Given the description of an element on the screen output the (x, y) to click on. 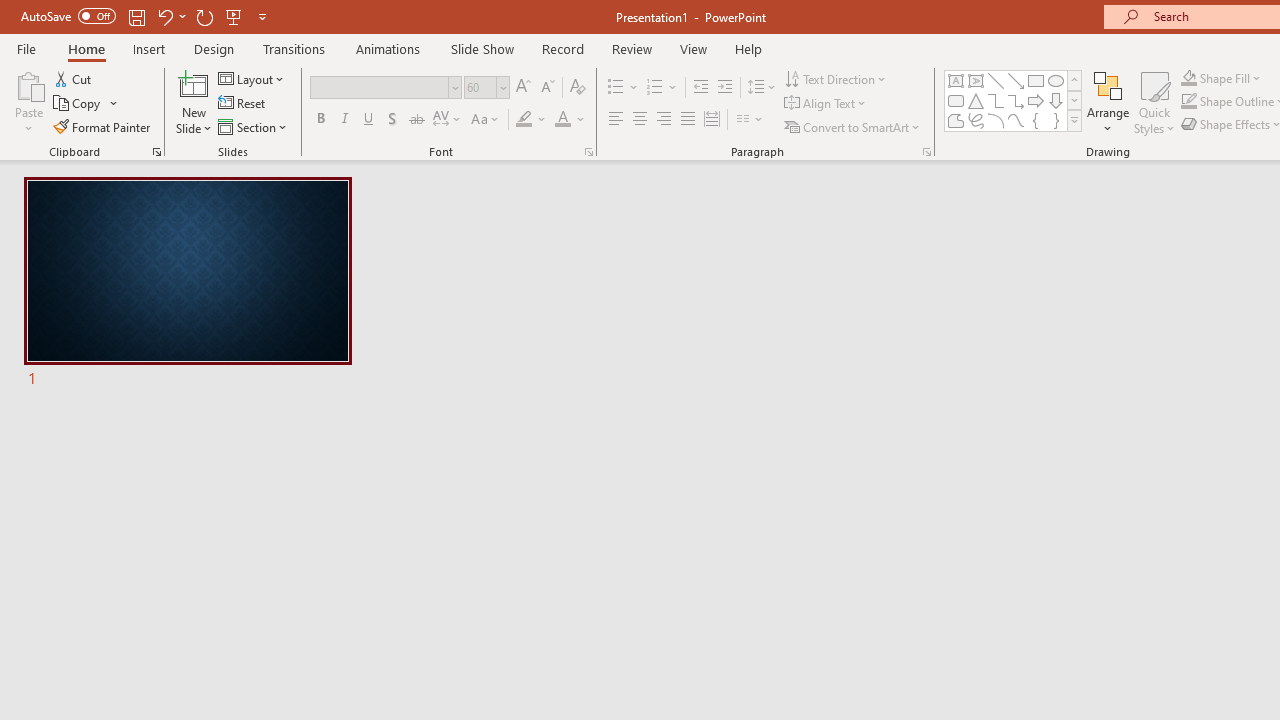
Align Text (826, 103)
Font Size (480, 87)
Text Highlight Color (531, 119)
Section (254, 126)
Convert to SmartArt (853, 126)
Line Spacing (762, 87)
Bullets (616, 87)
Font... (588, 151)
Distributed (712, 119)
